Given the description of an element on the screen output the (x, y) to click on. 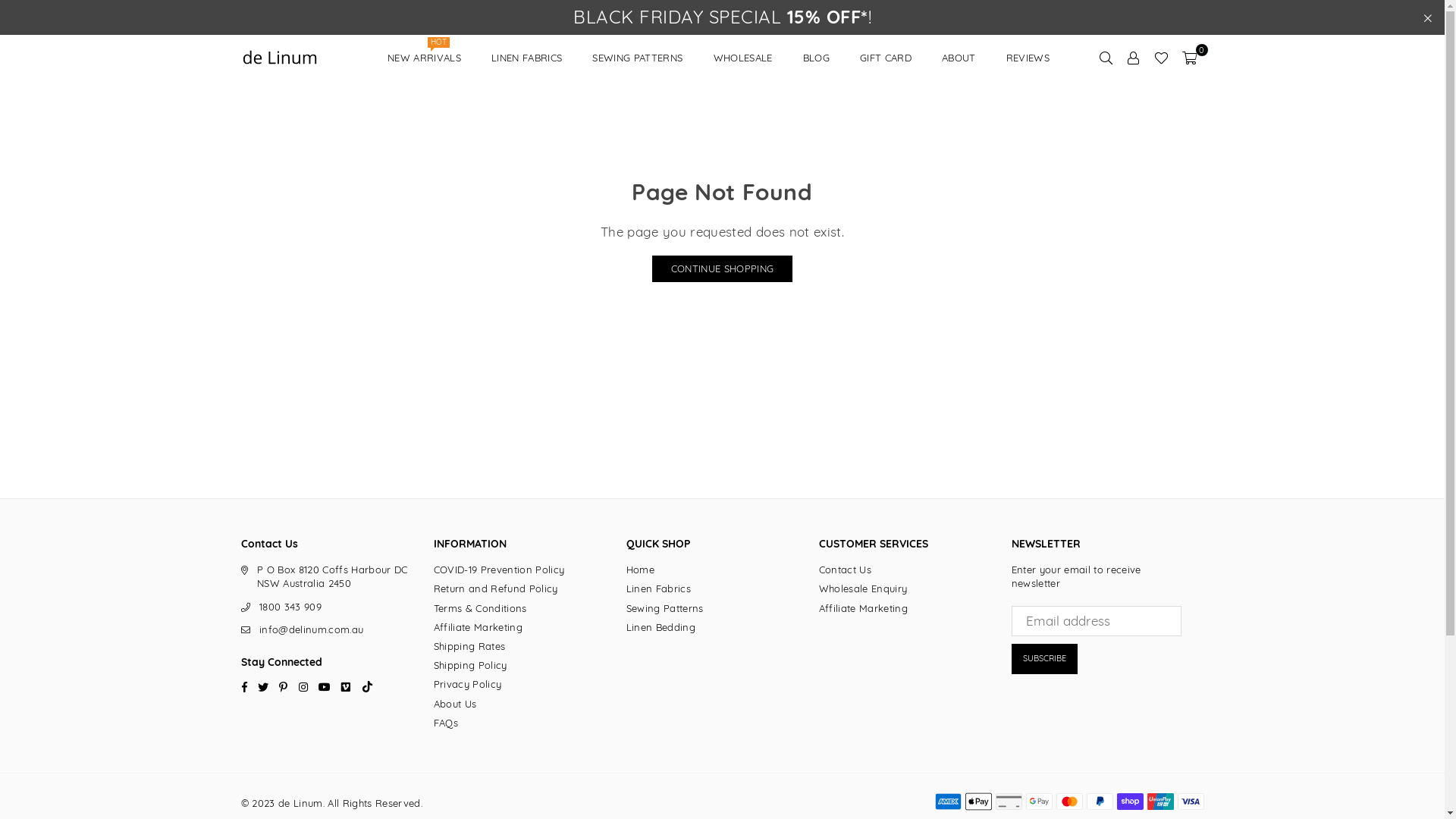
LINEN FABRICS Element type: text (526, 57)
REVIEWS Element type: text (1027, 57)
TikTok Element type: text (367, 685)
Home Element type: text (640, 569)
CONTINUE SHOPPING Element type: text (722, 268)
BLOG Element type: text (815, 57)
info@delinum.com.au Element type: text (311, 629)
NEW ARRIVALS
HOT Element type: text (424, 57)
Sewing Patterns Element type: text (664, 608)
Twitter Element type: text (262, 685)
Privacy Policy Element type: text (467, 683)
Pinterest Element type: text (282, 685)
GIFT CARD Element type: text (885, 57)
Affiliate Marketing Element type: text (863, 608)
Search Element type: hover (1106, 57)
0 Element type: text (1189, 57)
Terms & Conditions Element type: text (480, 608)
WHOLESALE Element type: text (743, 57)
1800 343 909 Element type: text (290, 606)
COVID-19 Prevention Policy Element type: text (498, 569)
Shipping Rates Element type: text (469, 646)
Contact Us Element type: text (845, 569)
SUBSCRIBE Element type: text (1044, 658)
About Us Element type: text (454, 703)
Vimeo Element type: text (345, 685)
SEWING PATTERNS Element type: text (636, 57)
FAQs Element type: text (445, 722)
YouTube Element type: text (324, 685)
Linen Fabrics Element type: text (658, 588)
BLACK FRIDAY SPECIAL 15% OFF*! Element type: text (722, 17)
Wishlist Element type: hover (1161, 57)
DE LINUM Element type: text (305, 57)
Return and Refund Policy Element type: text (495, 588)
Affiliate Marketing Element type: text (477, 627)
Shipping Policy Element type: text (470, 664)
Settings Element type: hover (1133, 57)
Facebook Element type: text (244, 685)
Instagram Element type: text (303, 685)
Wholesale Enquiry Element type: text (863, 588)
Linen Bedding Element type: text (660, 627)
ABOUT Element type: text (958, 57)
